Given the description of an element on the screen output the (x, y) to click on. 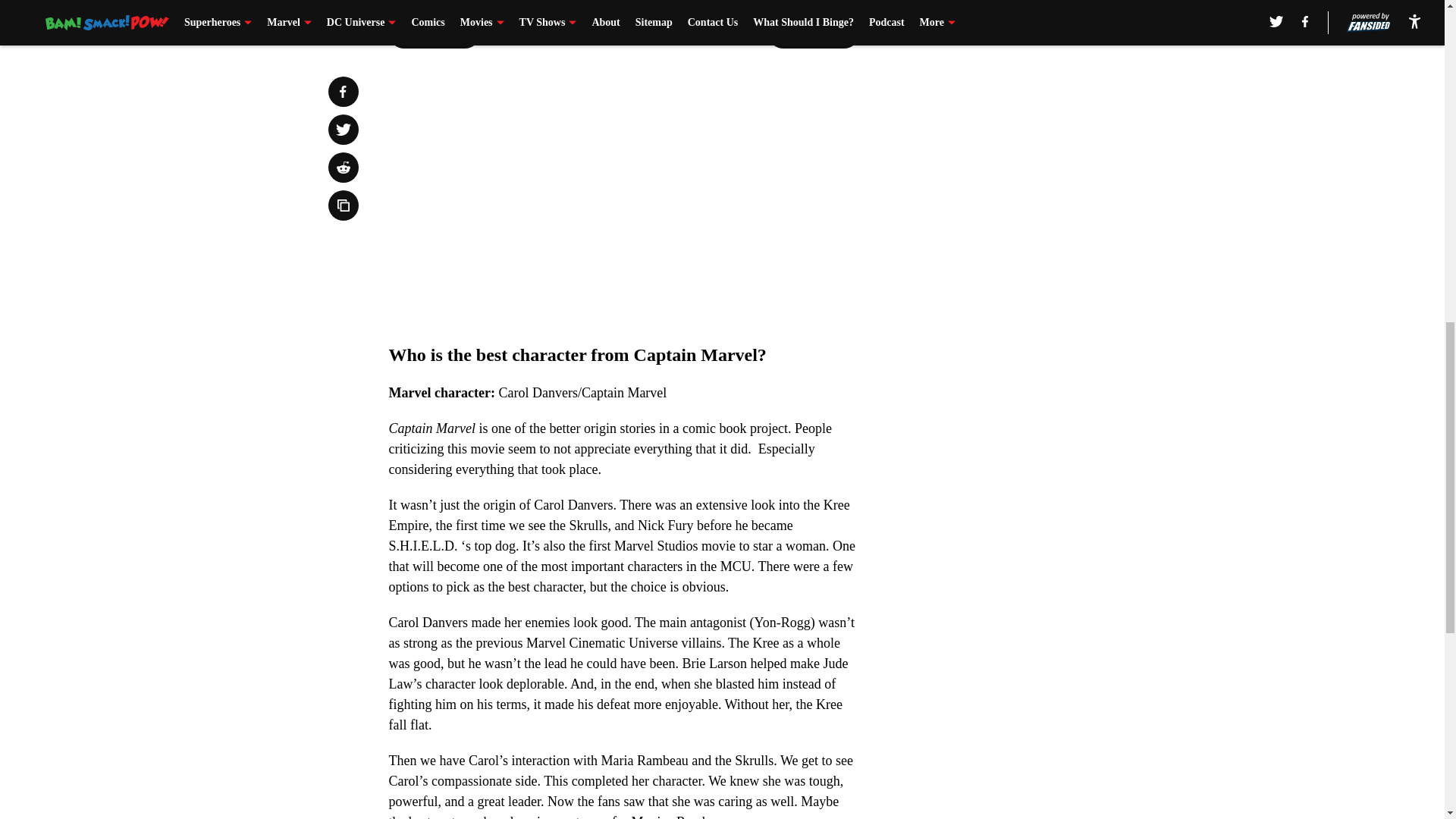
Prev (433, 33)
Next (813, 33)
